Given the description of an element on the screen output the (x, y) to click on. 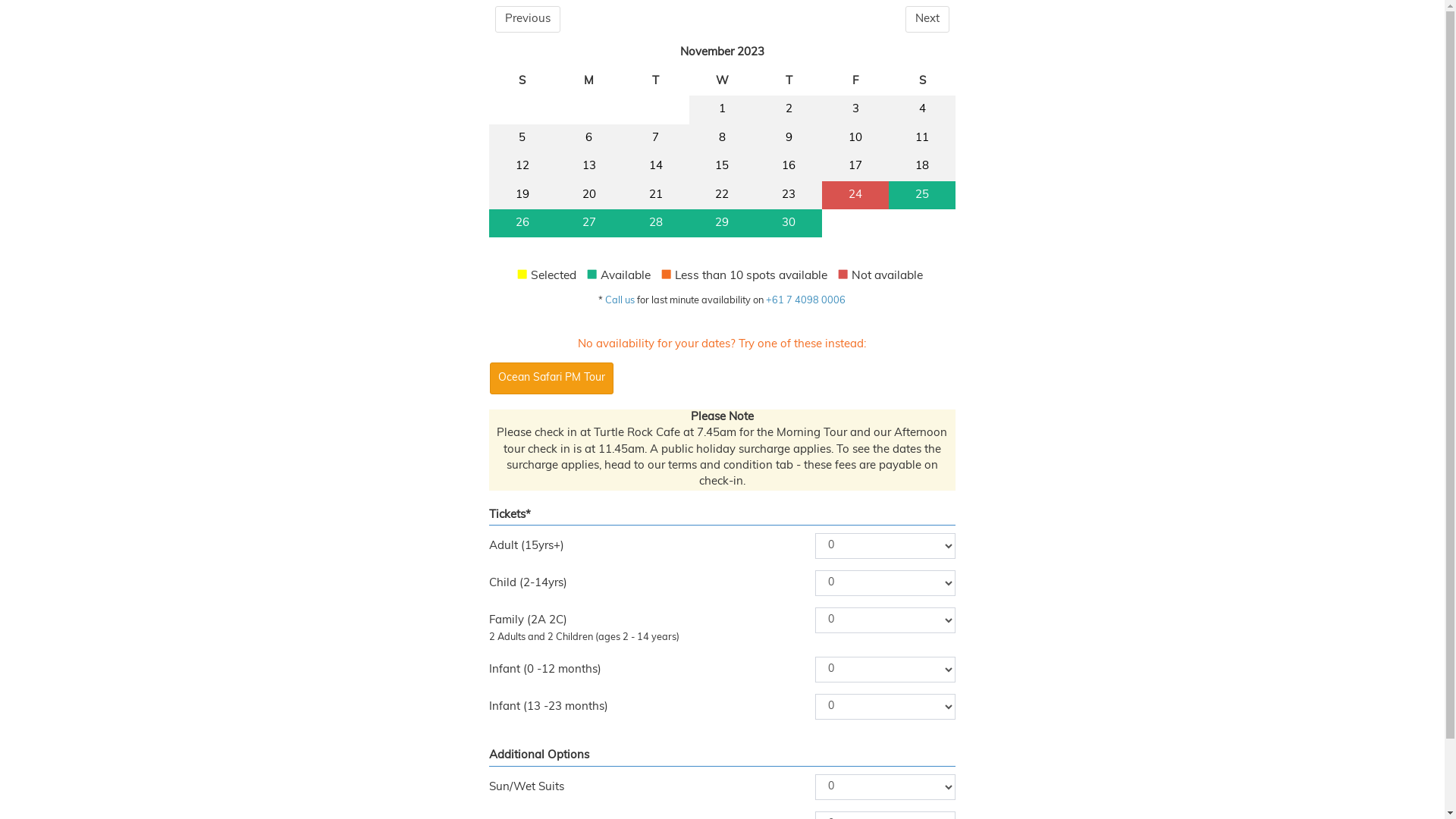
Previous Element type: text (527, 19)
Ocean Safari PM Tour Element type: text (551, 378)
+61 7 4098 0006 Element type: text (805, 300)
Call us Element type: text (619, 300)
Next Element type: text (927, 19)
